Given the description of an element on the screen output the (x, y) to click on. 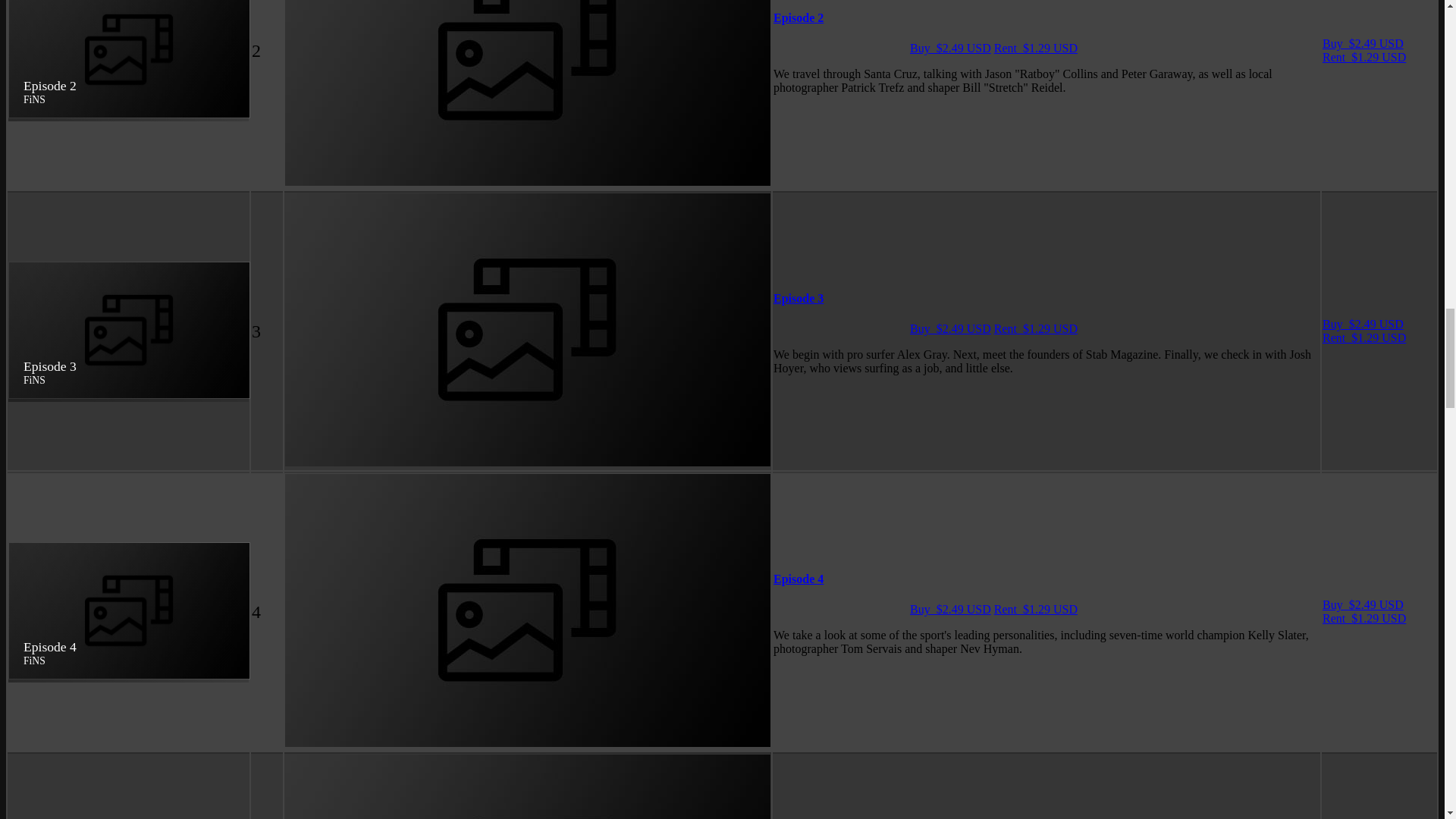
Episode  12 (361, 679)
Episode  10 (361, 475)
Episode  11 (360, 577)
Episode  7 (358, 169)
Episode  8 (358, 271)
Episode  13 (361, 781)
Episode  6 (358, 67)
Episode  9 (358, 373)
